Given the description of an element on the screen output the (x, y) to click on. 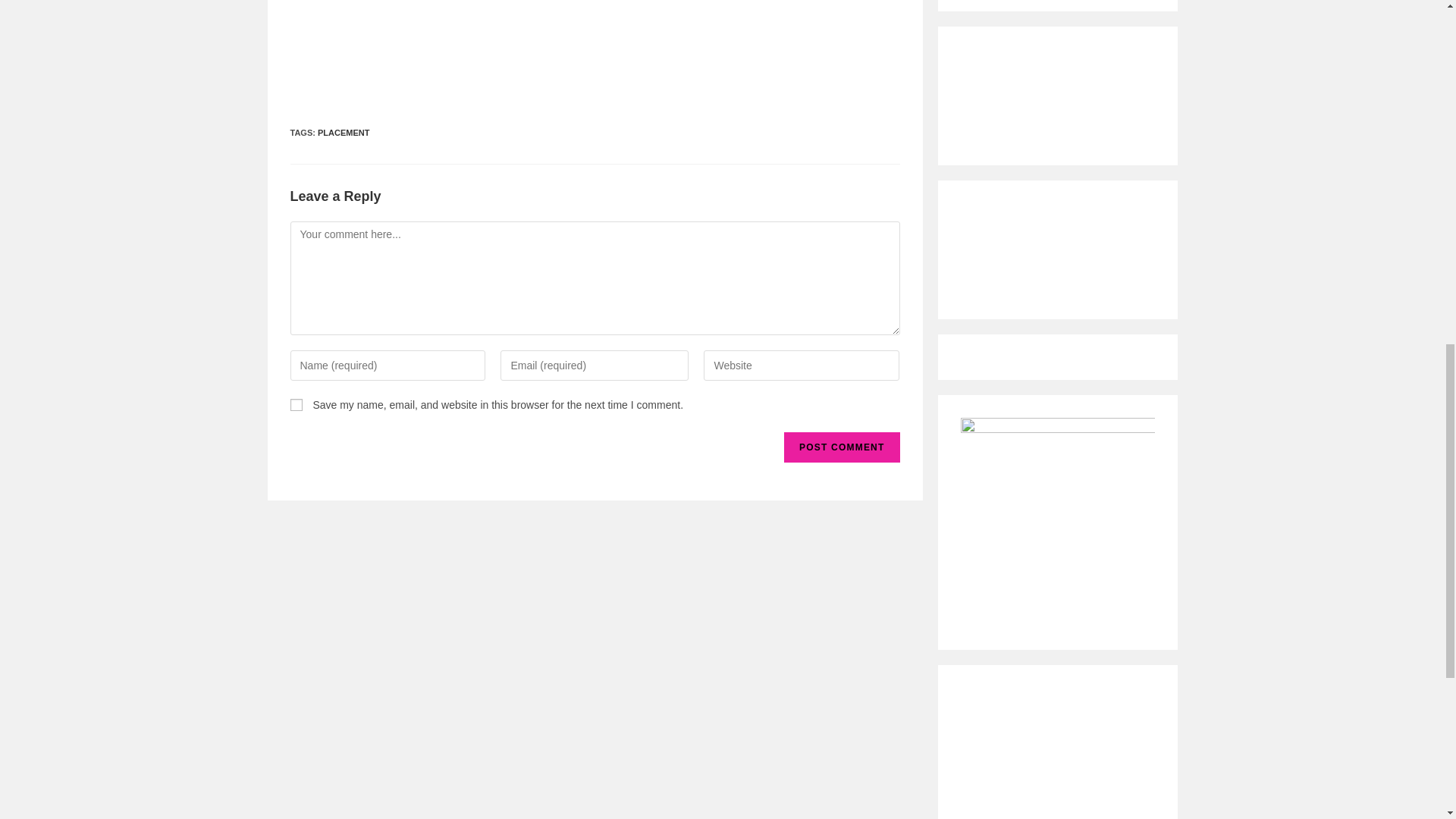
yes (295, 404)
Spotify Embed: She Makes POP Music (1056, 244)
Post Comment (841, 447)
Spotify Embed: She Makes Music: Tracks of the Week (1056, 90)
